Given the description of an element on the screen output the (x, y) to click on. 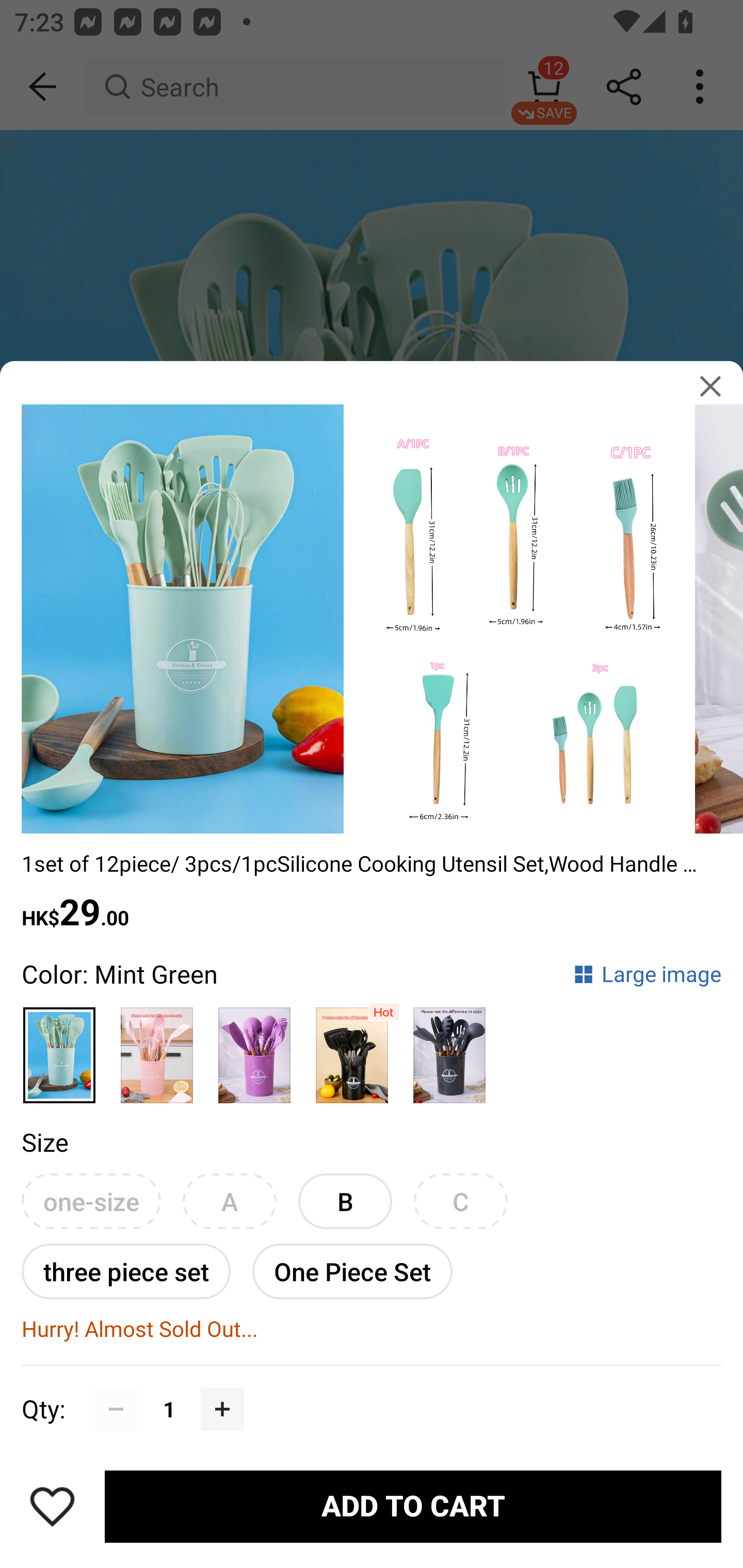
Color: Mint Green (119, 973)
Large image (646, 973)
Mint Green (59, 1046)
Pink (156, 1046)
Purple (254, 1046)
Black (352, 1046)
Grey (449, 1046)
Size (44, 1141)
one-size (91, 1200)
A (229, 1200)
B unselected option (344, 1200)
C (460, 1200)
three piece set unselected option (125, 1271)
One Piece Set unselected option (352, 1271)
Hurry! Almost Sold Out... (371, 1328)
ADD TO CART (412, 1506)
Save (52, 1505)
